Given the description of an element on the screen output the (x, y) to click on. 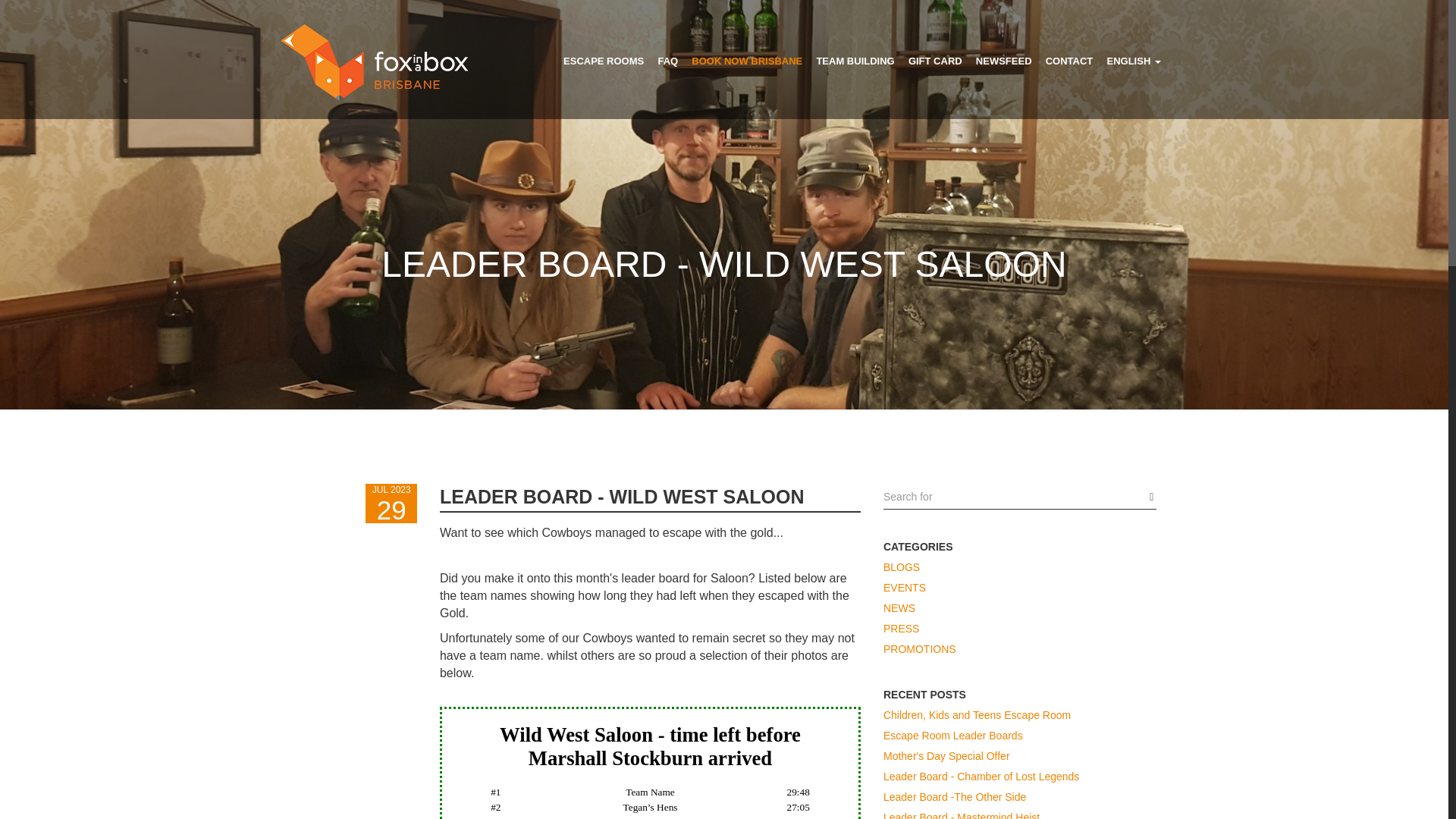
Children, Kids and Teens Escape Room (1019, 712)
PROMOTIONS (1019, 647)
Leader Board - Mastermind Heist (1019, 812)
Leader Board -The Other Side (1019, 794)
PRESS (1019, 626)
NEWS (1019, 606)
Leader Board - Chamber of Lost Legends (1019, 774)
Mother's Day Special Offer (1019, 753)
BLOGS (1019, 565)
Fox in a Box Brisbane Escape Rooms (374, 62)
